Given the description of an element on the screen output the (x, y) to click on. 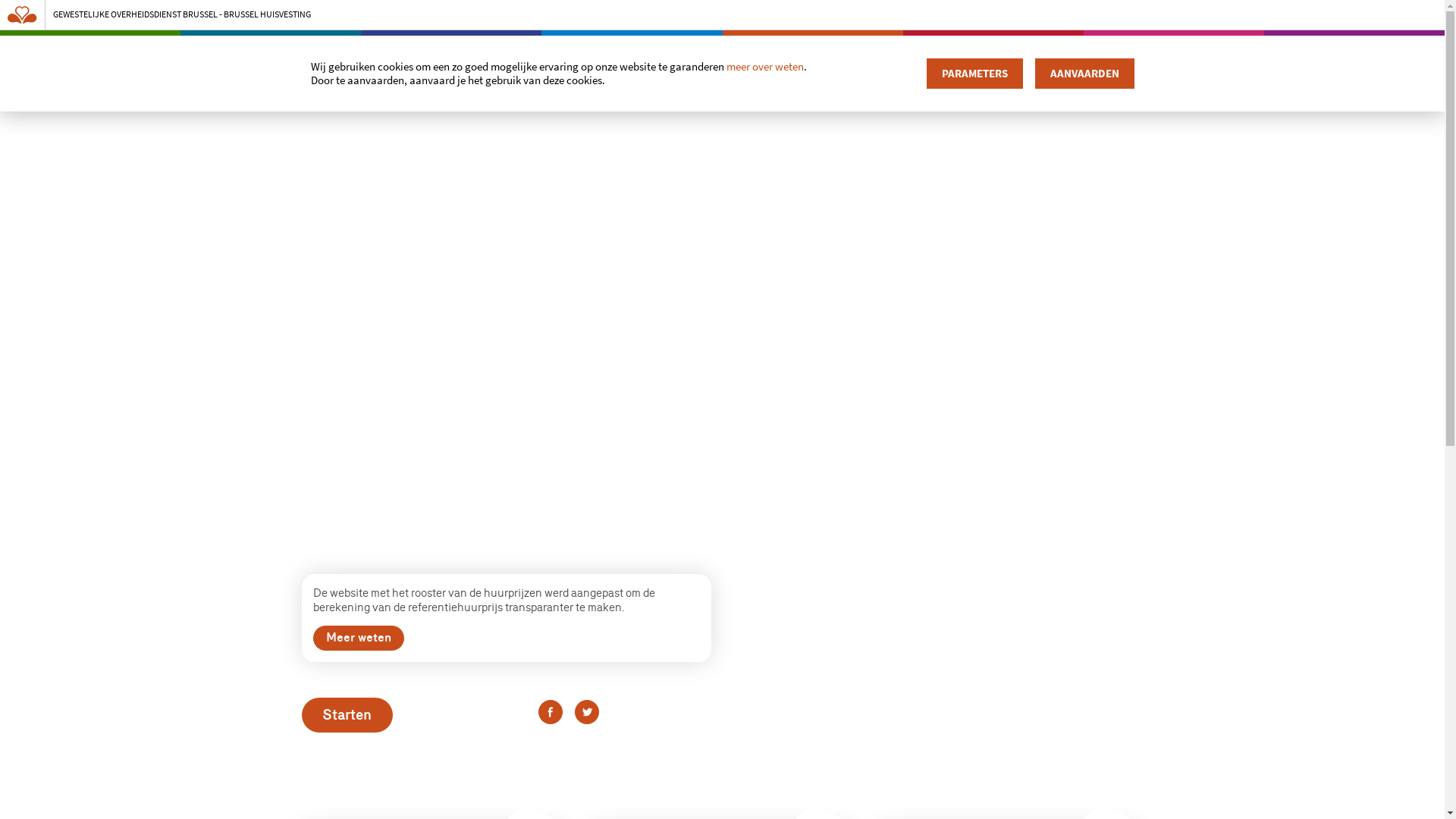
DELEN FACEBOOK Element type: text (550, 711)
GEWESTELIJKE OVERHEIDSDIENST BRUSSEL - BRUSSEL HUISVESTING Element type: text (714, 14)
DELEN TWITTER Element type: text (586, 711)
Meer weten Element type: text (357, 637)
meer over weten Element type: text (764, 67)
huurprijzen.brussels Element type: hover (429, 155)
MENU Element type: text (1108, 103)
AANVAARDEN Element type: text (1083, 73)
Starten Element type: text (346, 714)
PARAMETERS Element type: text (974, 73)
